Given the description of an element on the screen output the (x, y) to click on. 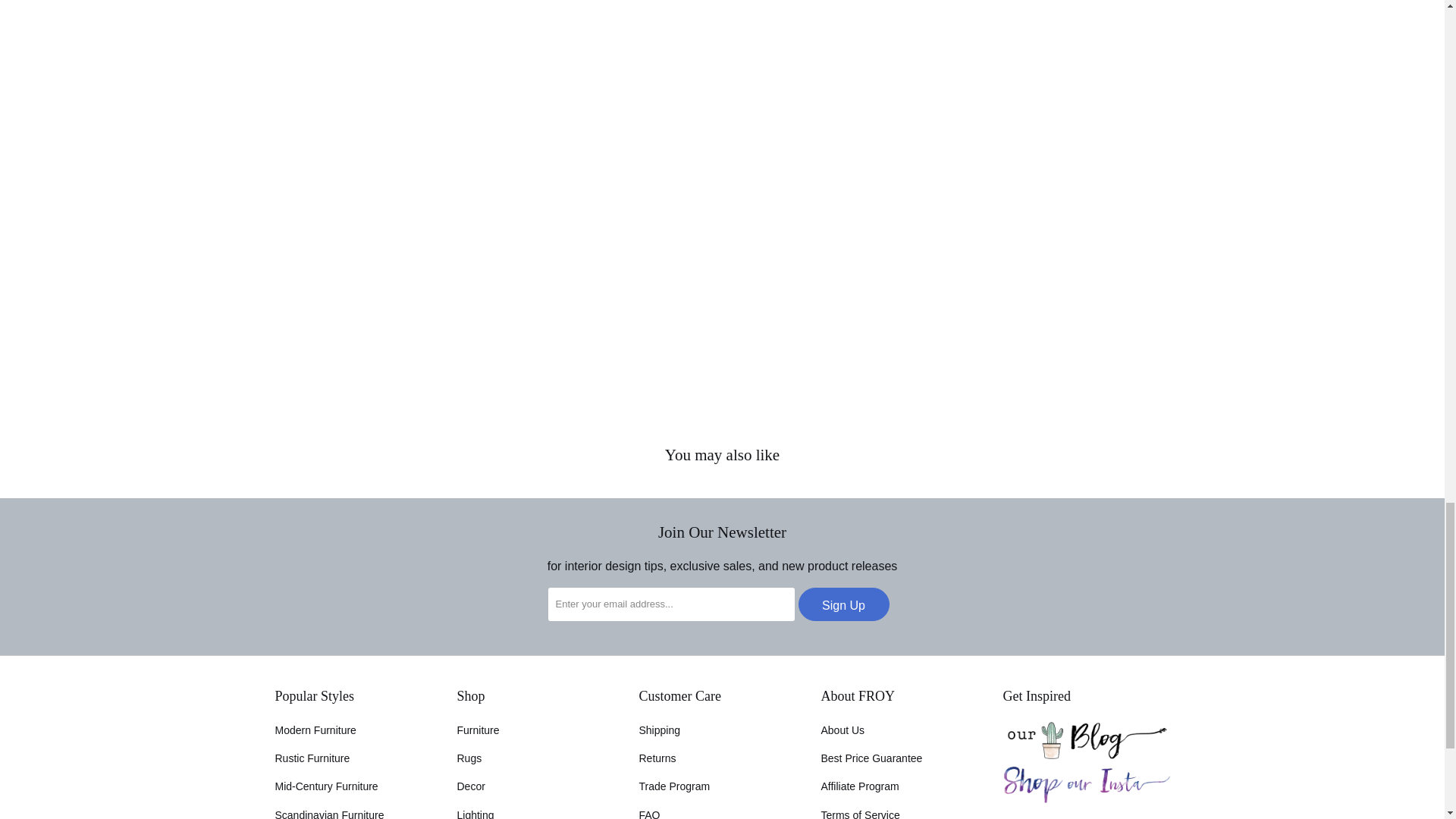
FROY Blog (1086, 755)
FROY Instagram Shop (1086, 799)
Sign Up (842, 604)
